Given the description of an element on the screen output the (x, y) to click on. 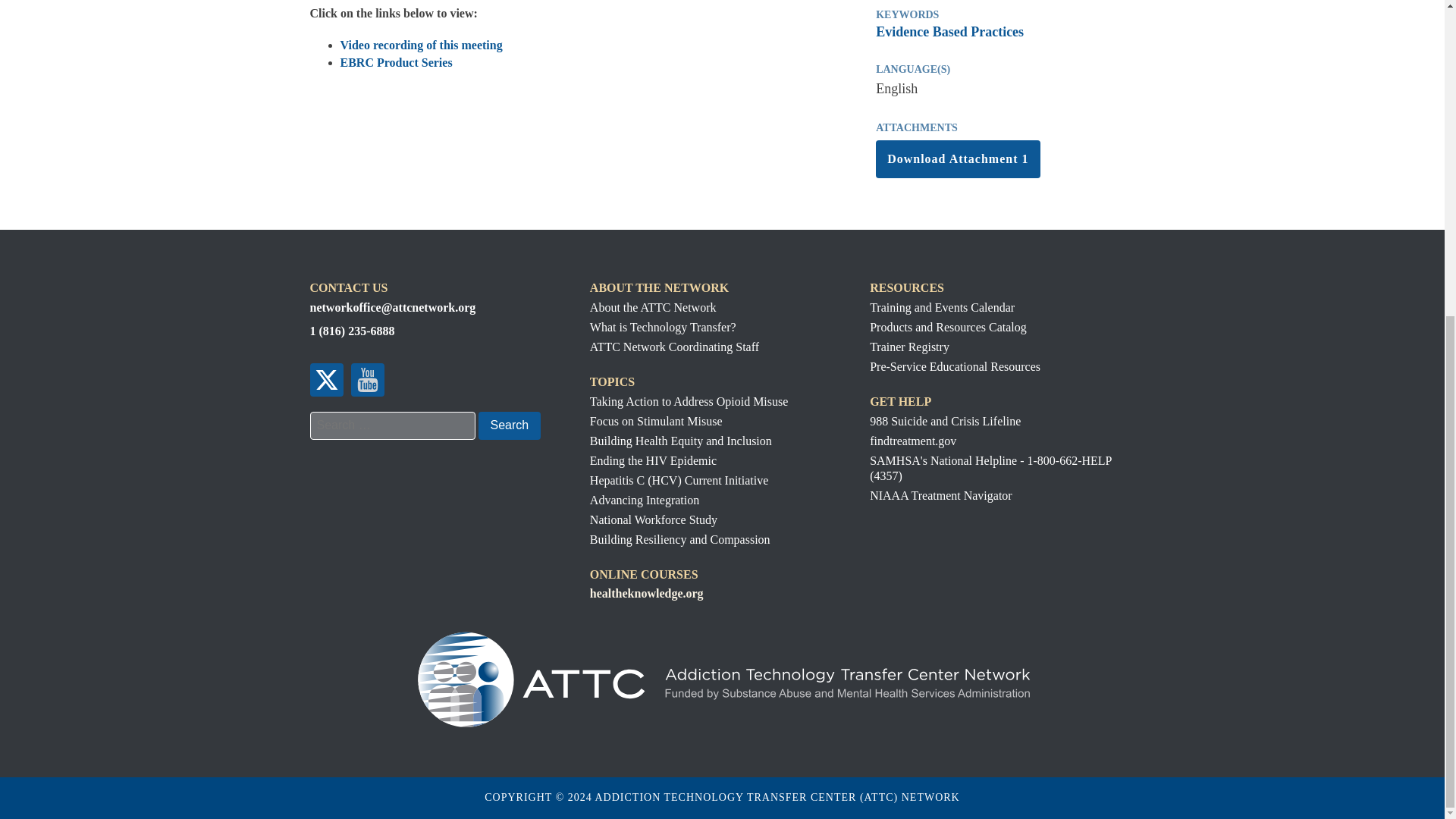
Search (508, 424)
Search (508, 424)
